Given the description of an element on the screen output the (x, y) to click on. 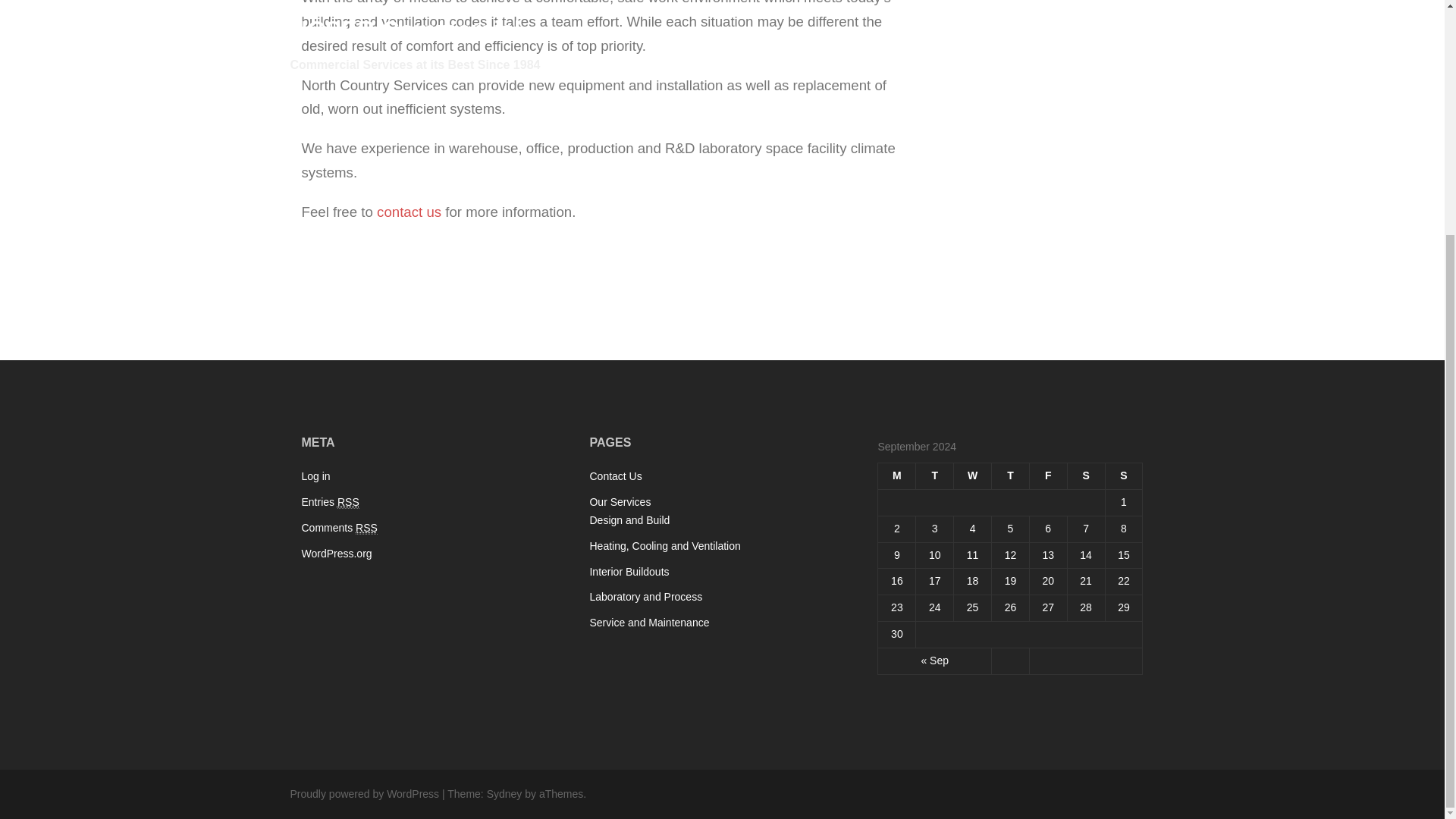
Log in (315, 476)
Sydney (504, 793)
Really Simple Syndication (348, 502)
Entries RSS (330, 502)
Comments RSS (339, 527)
Sunday (1123, 476)
Tuesday (934, 476)
Thursday (1010, 476)
Contact Us (615, 476)
Wednesday (972, 476)
